Given the description of an element on the screen output the (x, y) to click on. 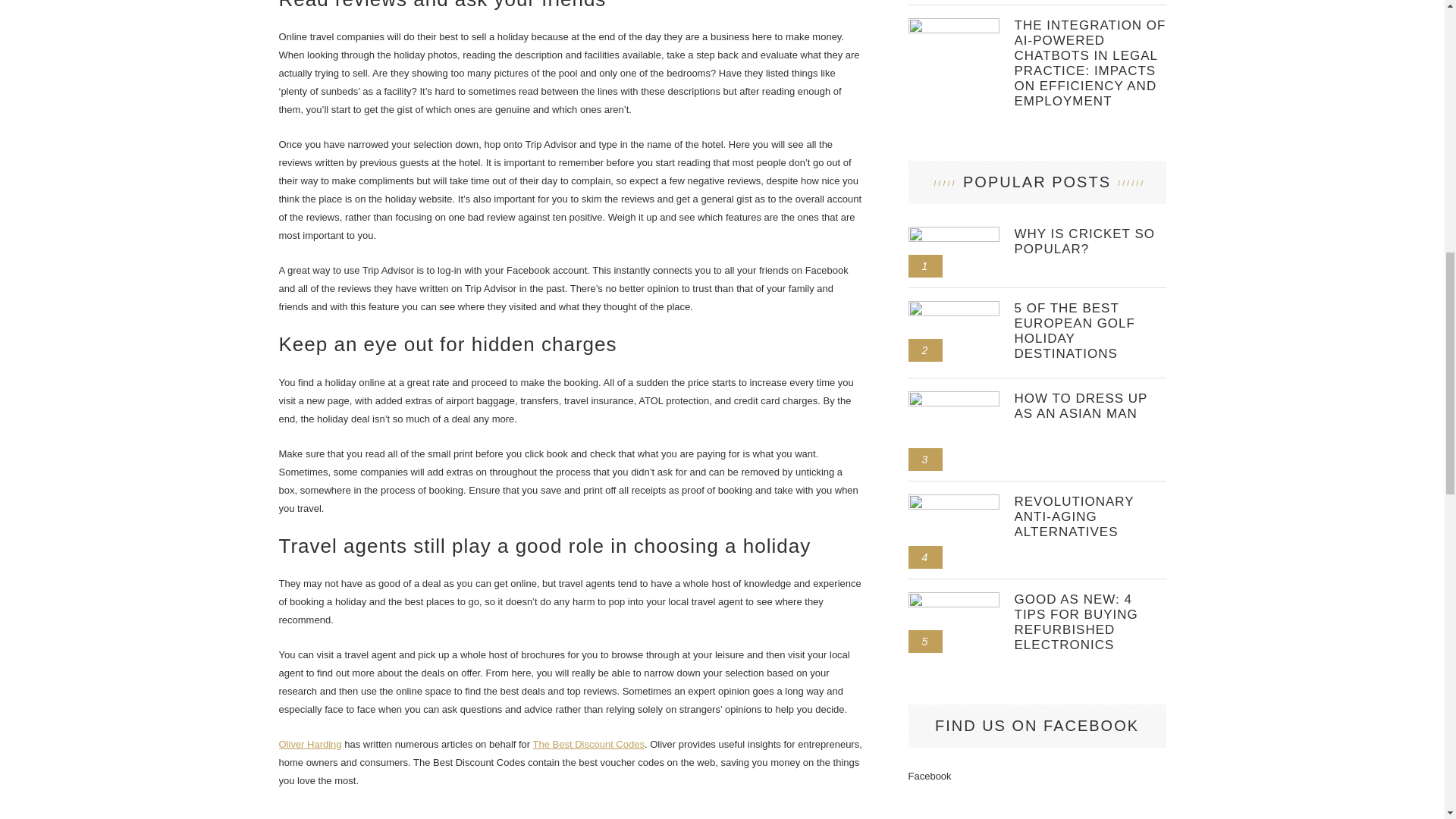
5 of the Best European Golf Holiday Destinations (953, 306)
Why is cricket so popular? (1090, 241)
5 of the Best European Golf Holiday Destinations (1090, 331)
Why is cricket so popular? (953, 232)
